Given the description of an element on the screen output the (x, y) to click on. 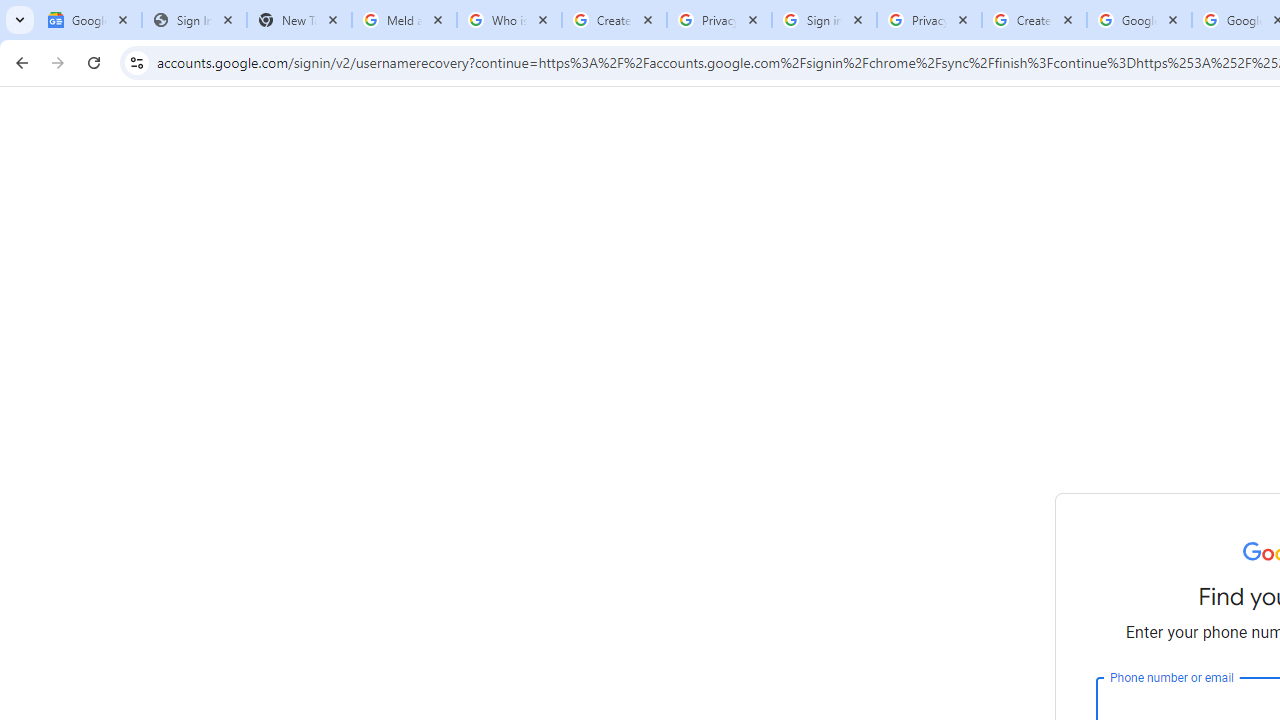
Reload (93, 62)
Sign In - USA TODAY (194, 20)
New Tab (299, 20)
Back (19, 62)
View site information (136, 62)
Who is my administrator? - Google Account Help (509, 20)
Search tabs (20, 20)
Google News (89, 20)
Forward (57, 62)
Sign in - Google Accounts (823, 20)
Create your Google Account (613, 20)
